Given the description of an element on the screen output the (x, y) to click on. 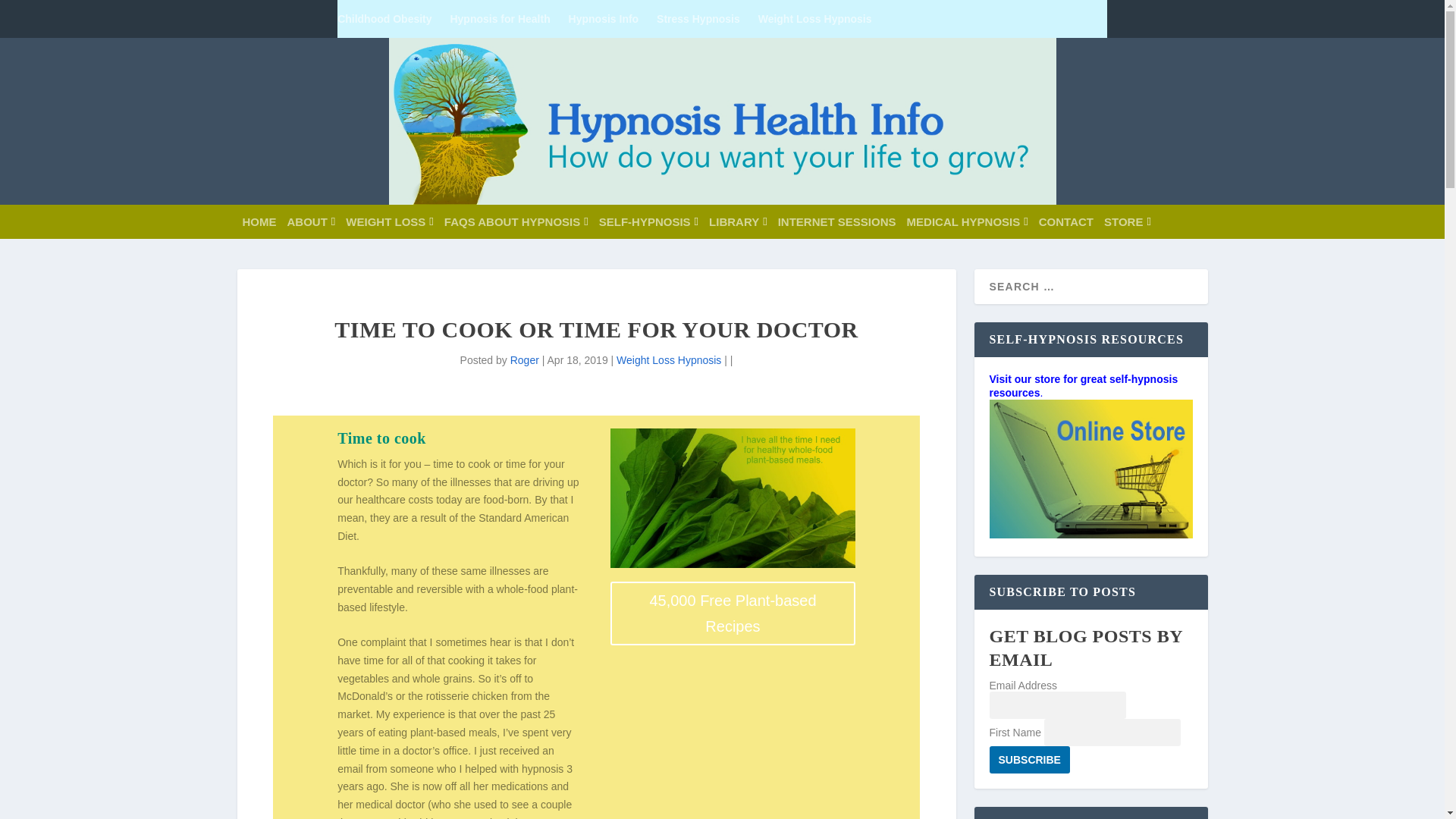
LIBRARY (738, 221)
Posts by Roger (524, 359)
INTERNET SESSIONS (836, 221)
Hypnosis Info (604, 18)
SELF-HYPNOSIS (648, 221)
WEIGHT LOSS (389, 221)
Subscribe (1028, 759)
FAQS ABOUT HYPNOSIS (516, 221)
Hypnosis for Health (499, 18)
HOME (259, 221)
ABOUT (310, 221)
MEDICAL HYPNOSIS (967, 221)
Stress Hypnosis (697, 18)
Childhood Obesity (383, 18)
Weight Loss Hypnosis (815, 18)
